Given the description of an element on the screen output the (x, y) to click on. 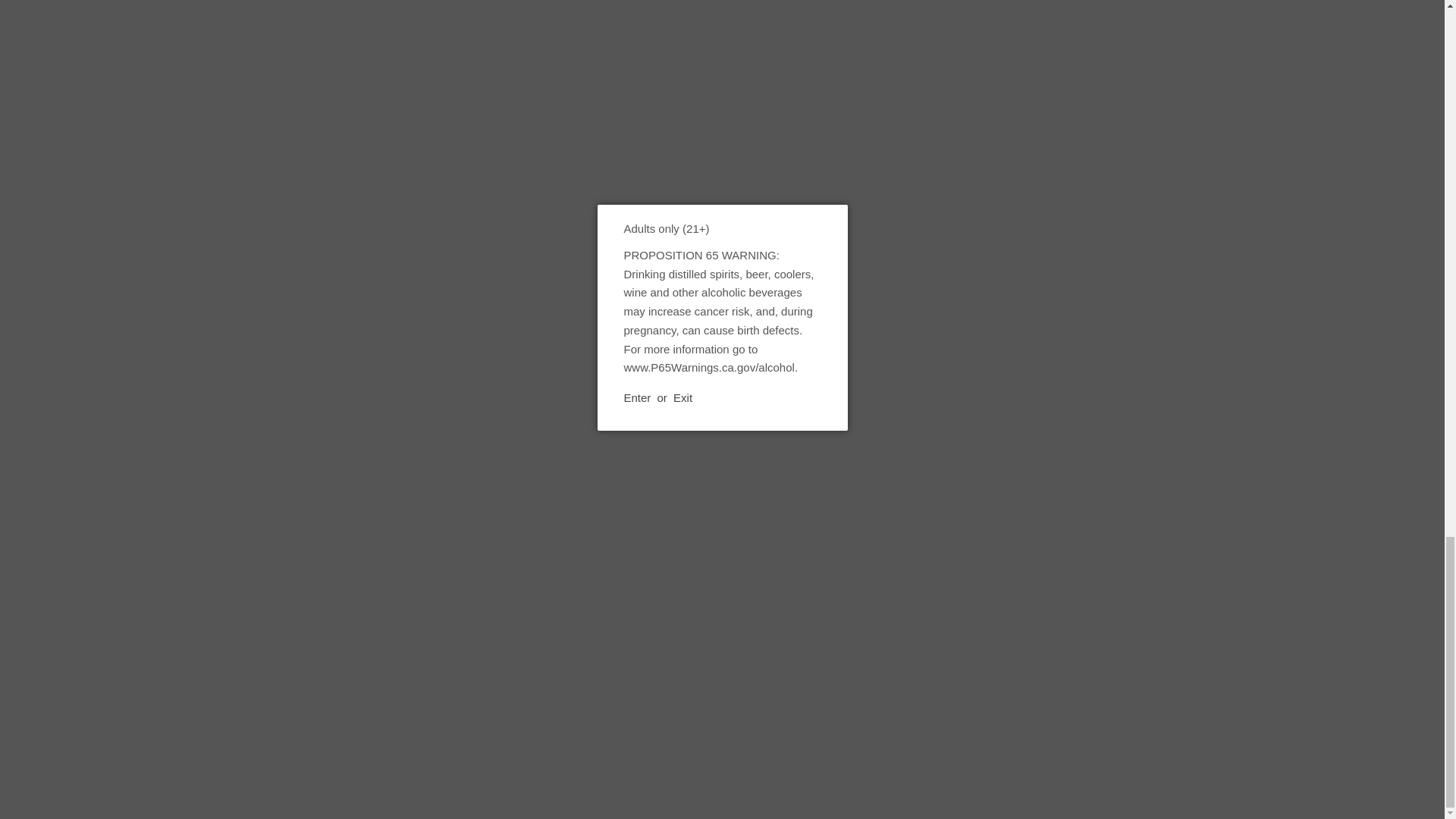
Meta Pay (1123, 745)
Diners Club (1042, 745)
Google Pay (1164, 745)
PayPal (1245, 745)
Apple Pay (1000, 745)
Shop Pay (1286, 745)
Visa (1369, 745)
Venmo (1328, 745)
American Express (959, 745)
Discover (1082, 745)
